Given the description of an element on the screen output the (x, y) to click on. 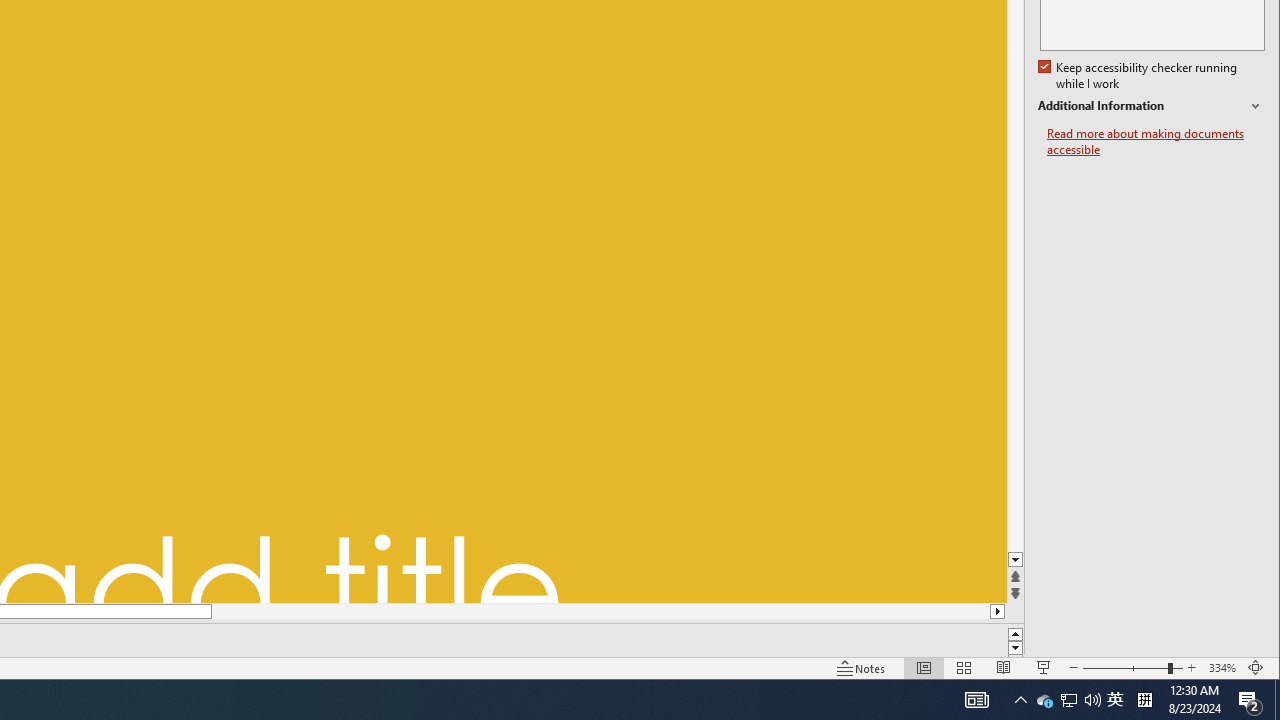
Zoom 334% (1222, 668)
